Given the description of an element on the screen output the (x, y) to click on. 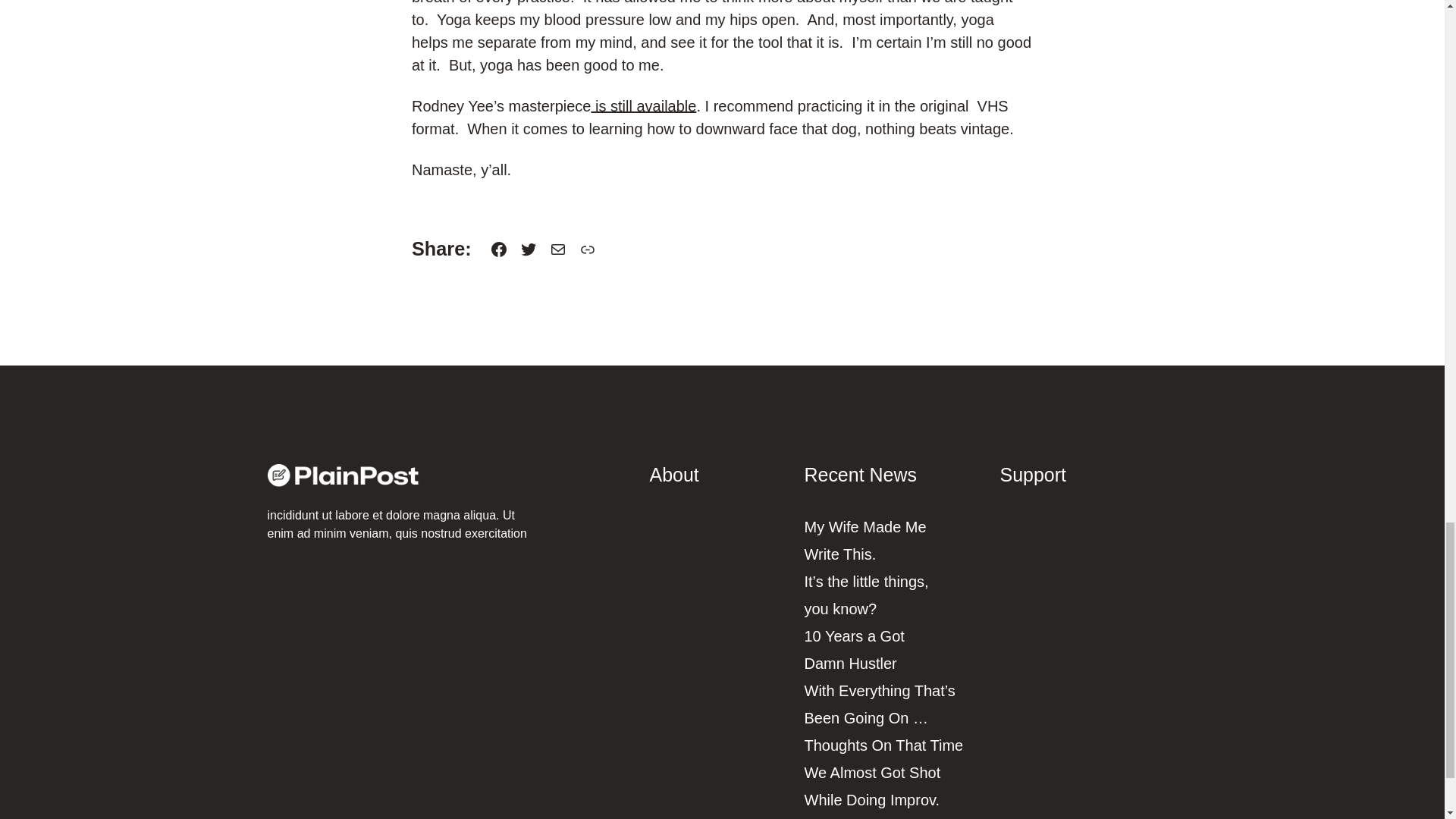
Twitter (528, 248)
Mail (557, 248)
My Wife Made Me Write This.  (864, 540)
is still available (643, 105)
Facebook (498, 248)
Thoughts On That Time We Almost Got Shot While Doing Improv. (882, 772)
Link (587, 248)
10 Years a Got Damn Hustler (853, 649)
